Given the description of an element on the screen output the (x, y) to click on. 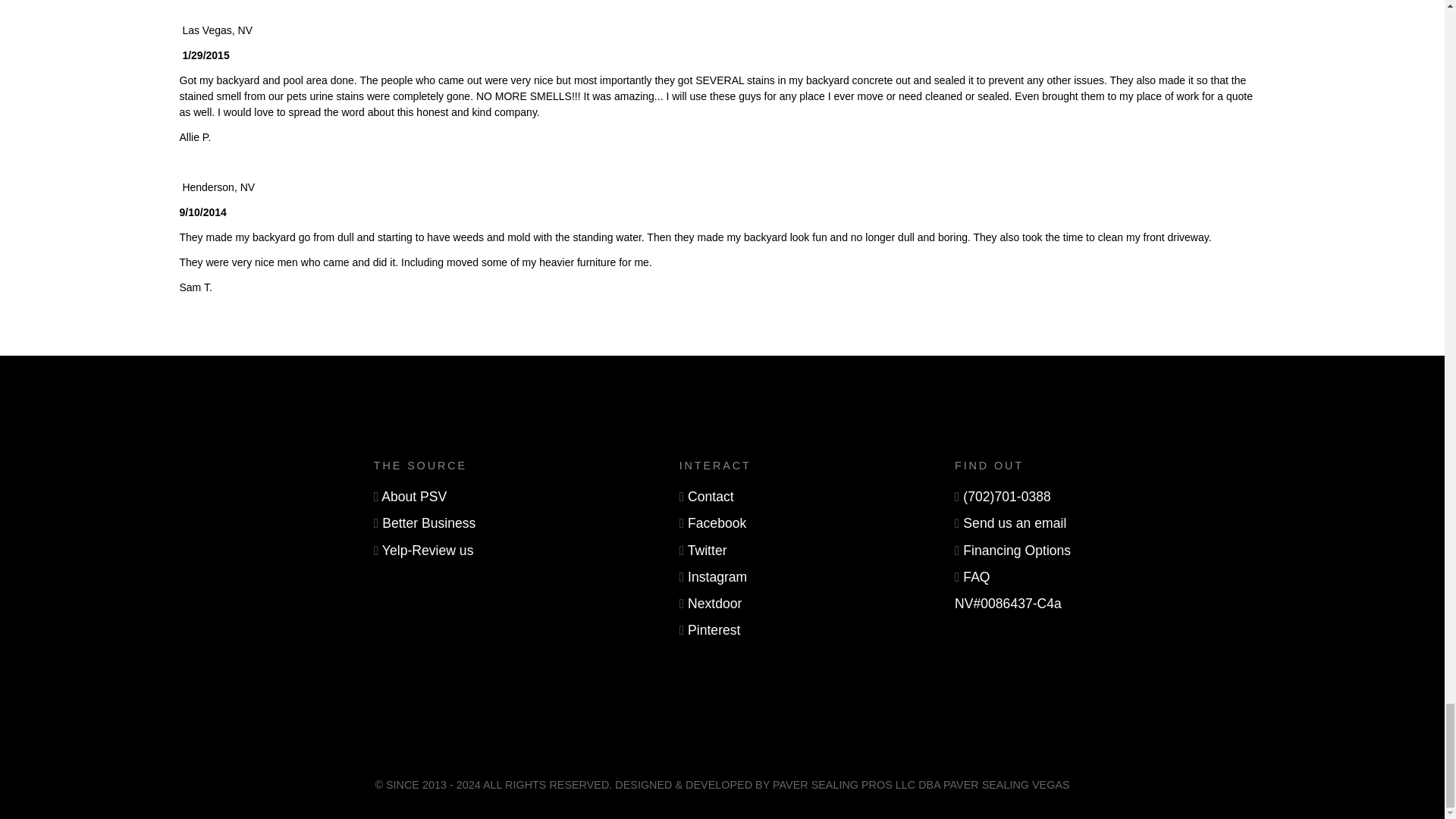
Twitter (706, 549)
Contact (710, 496)
Nextdoor (714, 603)
Yelp-Review us (427, 549)
Nextdoor (714, 603)
Yelp-Review us (427, 549)
Instagram (716, 576)
Contact (710, 496)
About PSV (413, 496)
Instagram (716, 576)
About PSV (413, 496)
Better Business (428, 522)
Twitter (706, 549)
Facebook (716, 522)
Send us an email (1013, 522)
